Given the description of an element on the screen output the (x, y) to click on. 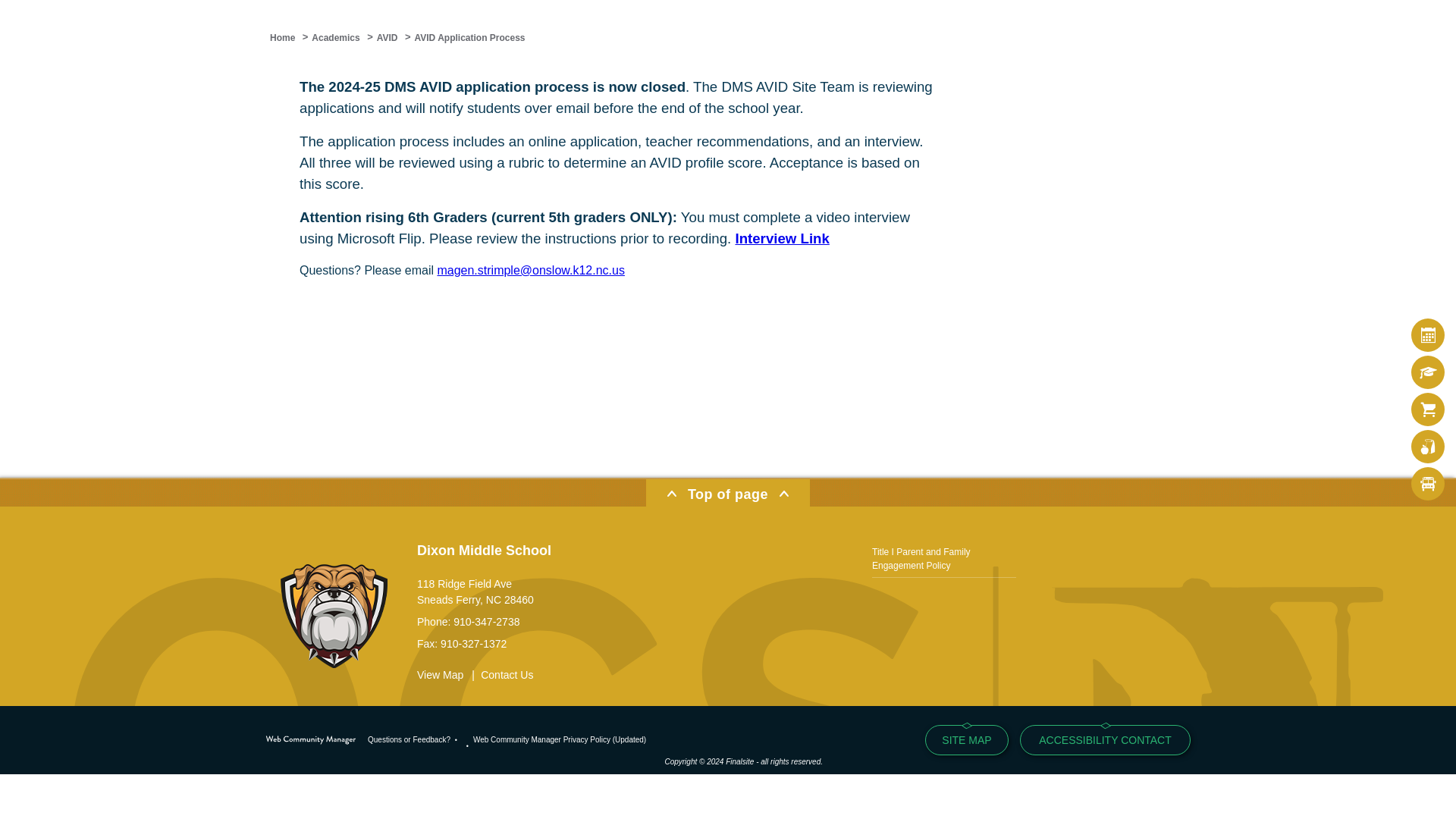
Finalsite - all rights reserved (310, 739)
Click to email the primary contact (408, 739)
